Given the description of an element on the screen output the (x, y) to click on. 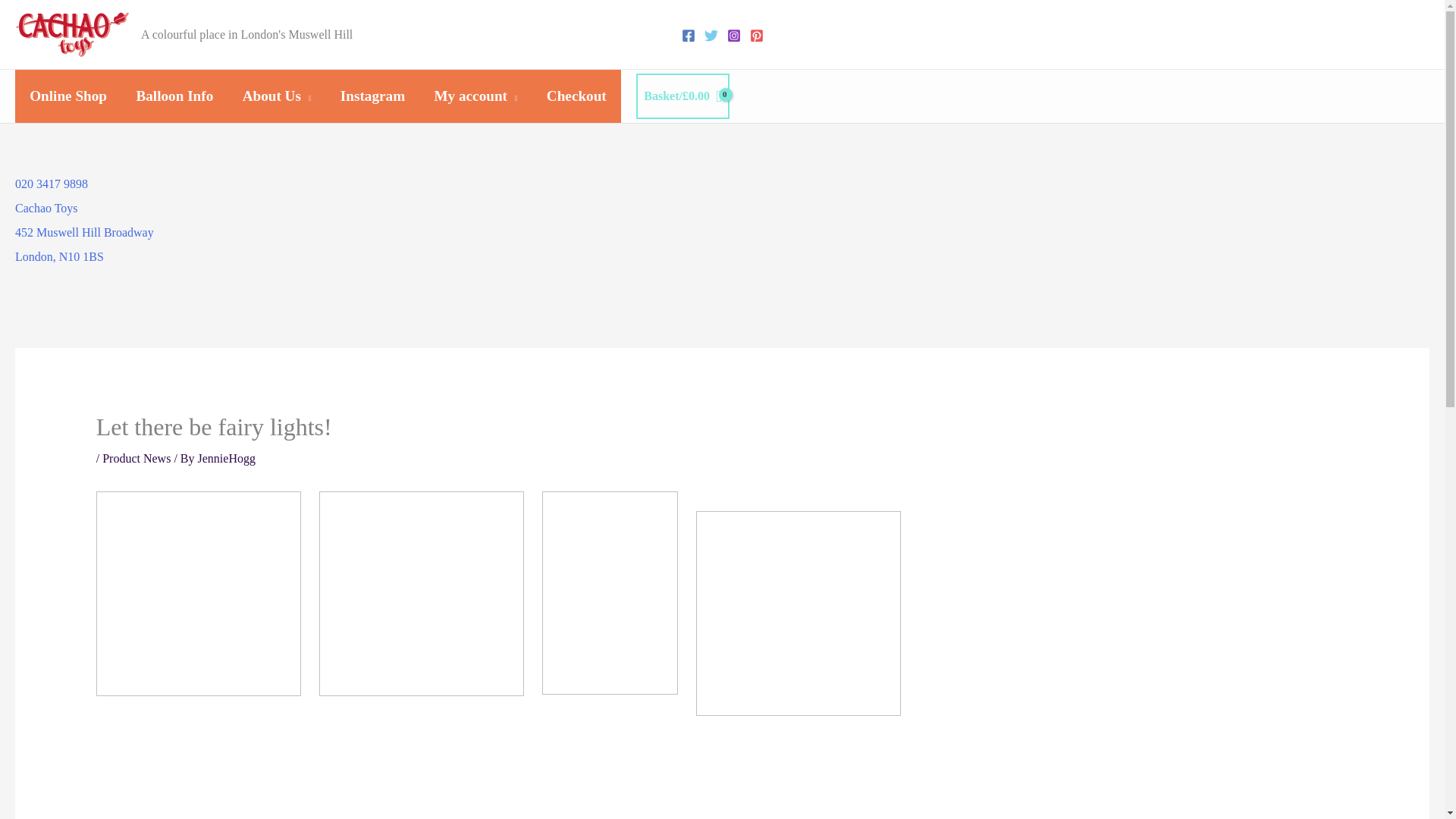
Instagram (373, 95)
View all posts by JennieHogg (227, 458)
About Us (275, 95)
My account (699, 232)
JennieHogg (475, 95)
Product News (227, 458)
Balloon Info (135, 458)
Online Shop (173, 95)
020 3417 9898 (67, 95)
Checkout (50, 183)
Open address in Google Maps (576, 95)
